Given the description of an element on the screen output the (x, y) to click on. 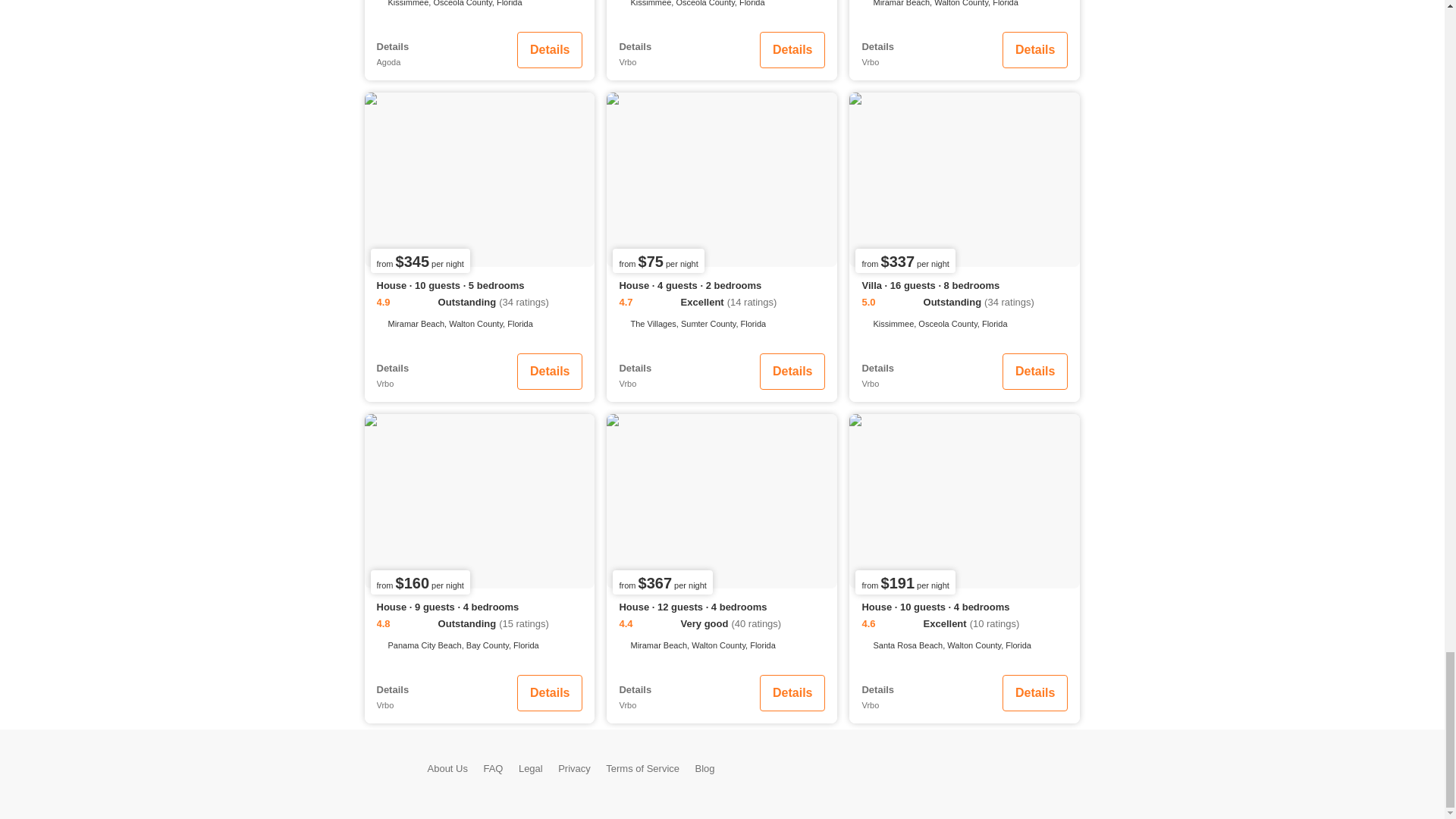
Terms of Service (642, 767)
Privacy (574, 767)
FAQ (492, 767)
About Us (447, 767)
Legal (530, 767)
